Given the description of an element on the screen output the (x, y) to click on. 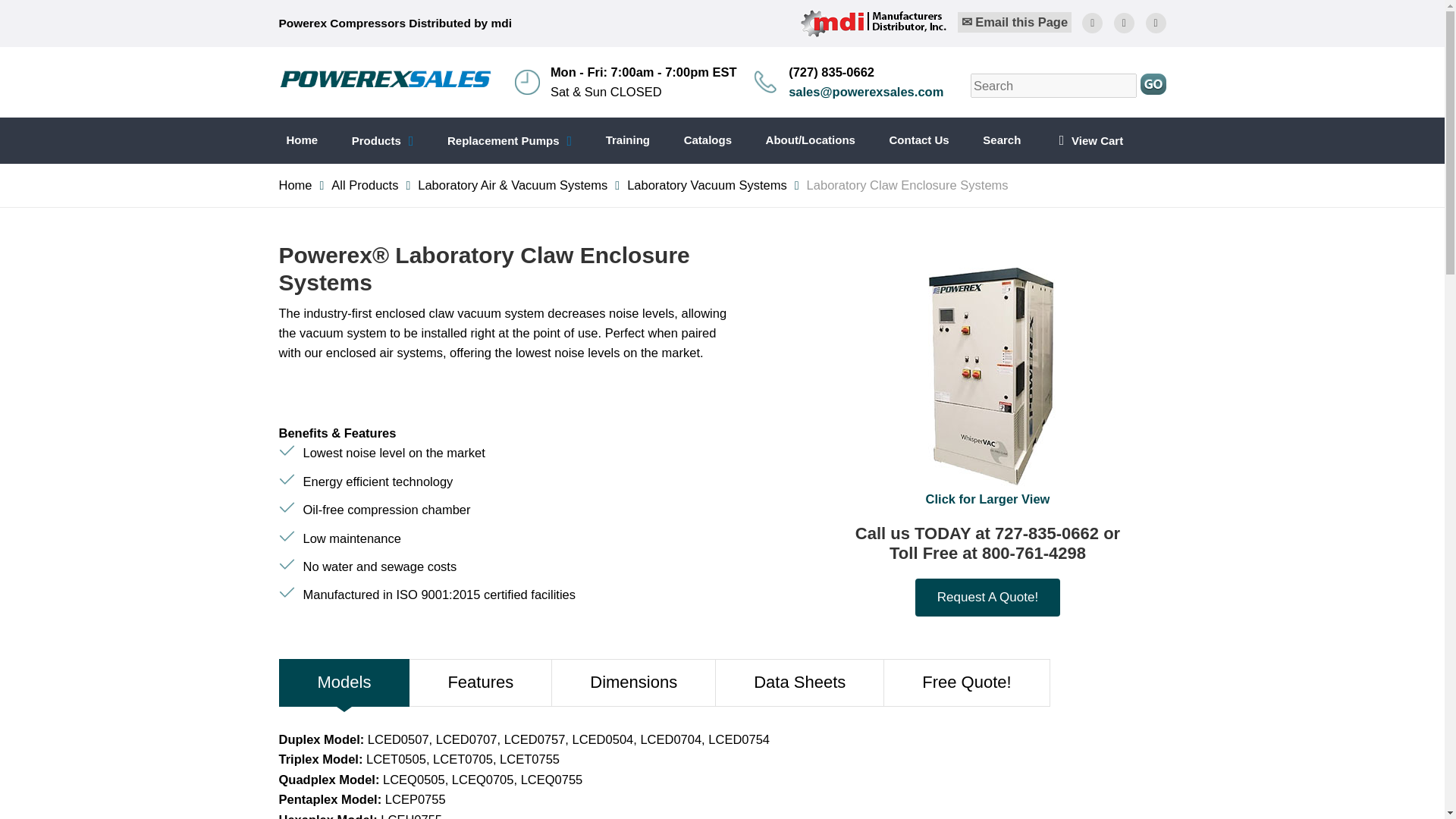
Training (628, 140)
View Cart (1088, 140)
Catalogs (708, 140)
Contact Us (918, 140)
Replacement Pumps (509, 140)
Products (382, 140)
Home (302, 140)
Search (1001, 140)
At least 2 characters (1054, 85)
Home (296, 184)
